Given the description of an element on the screen output the (x, y) to click on. 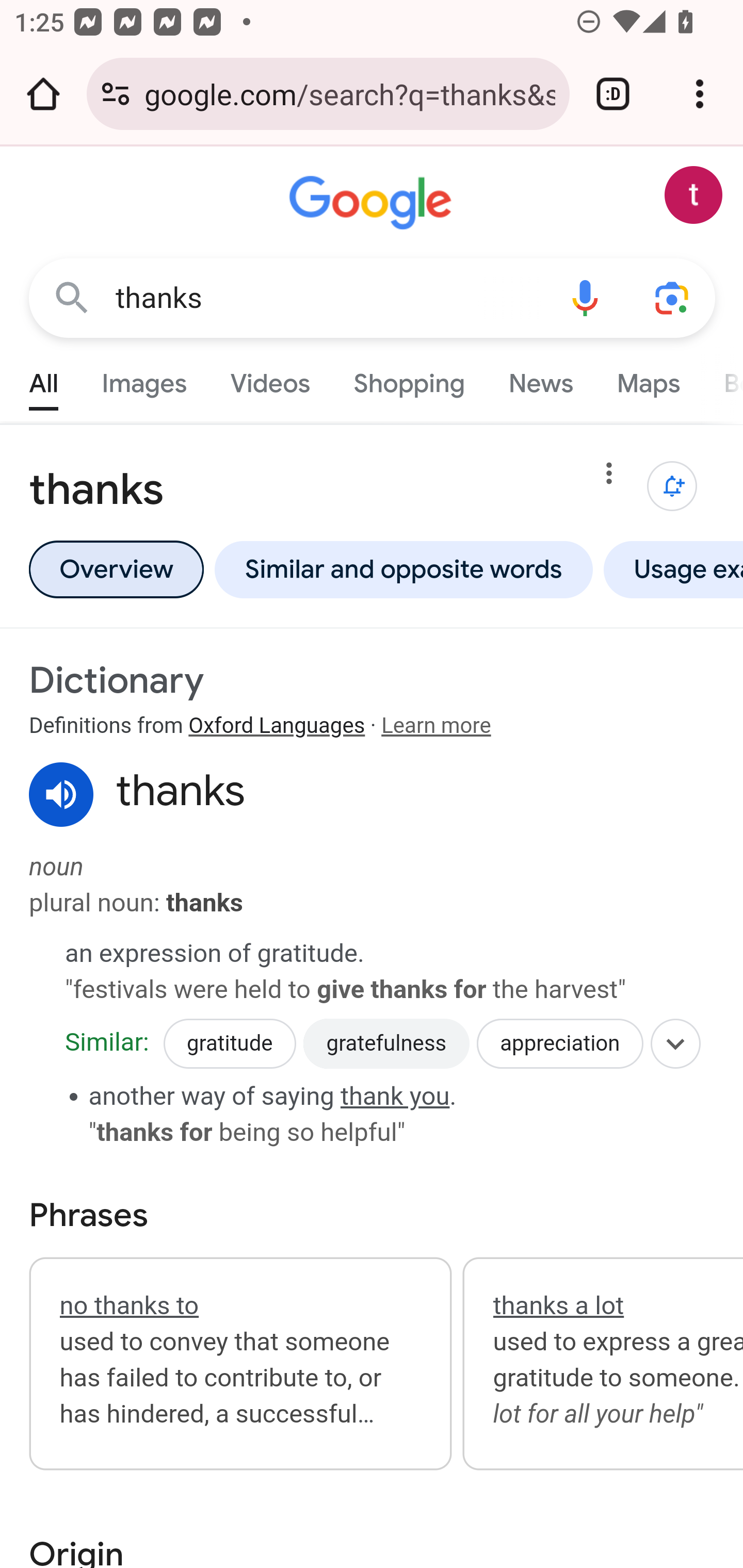
Open the home page (43, 93)
Connection is secure (115, 93)
Switch or close tabs (612, 93)
Customize and control Google Chrome (699, 93)
Google (372, 203)
Google Search (71, 296)
Search using your camera or photos (672, 296)
thanks (328, 297)
Images (144, 378)
Videos (270, 378)
Shopping (408, 378)
News (540, 378)
Maps (647, 378)
Get notifications about Word of the day (672, 485)
More options (609, 477)
Overview (116, 569)
Similar and opposite words (403, 569)
Usage examples (670, 569)
Oxford Languages (276, 726)
Learn more (435, 726)
 Listen  (61, 794)
gratitude (229, 1043)
appreciation (560, 1043)
thank you (395, 1094)
no thanks to (128, 1304)
thanks a lot (557, 1304)
